Given the description of an element on the screen output the (x, y) to click on. 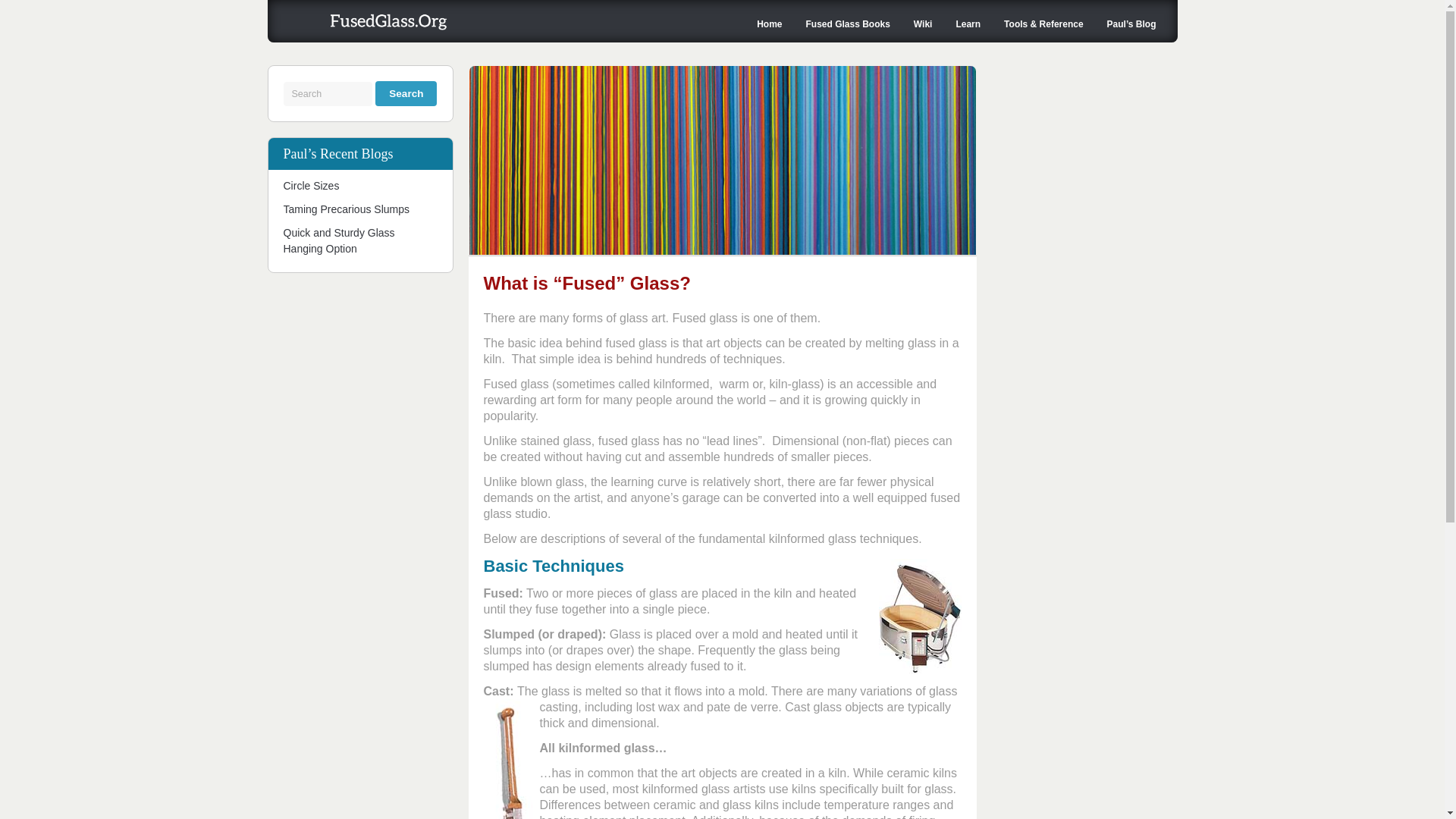
Learn (967, 23)
Wiki (923, 23)
Fused Glass Books (846, 23)
FusedGlass.Org (364, 25)
Home (769, 23)
Search (405, 93)
Search (405, 93)
